Given the description of an element on the screen output the (x, y) to click on. 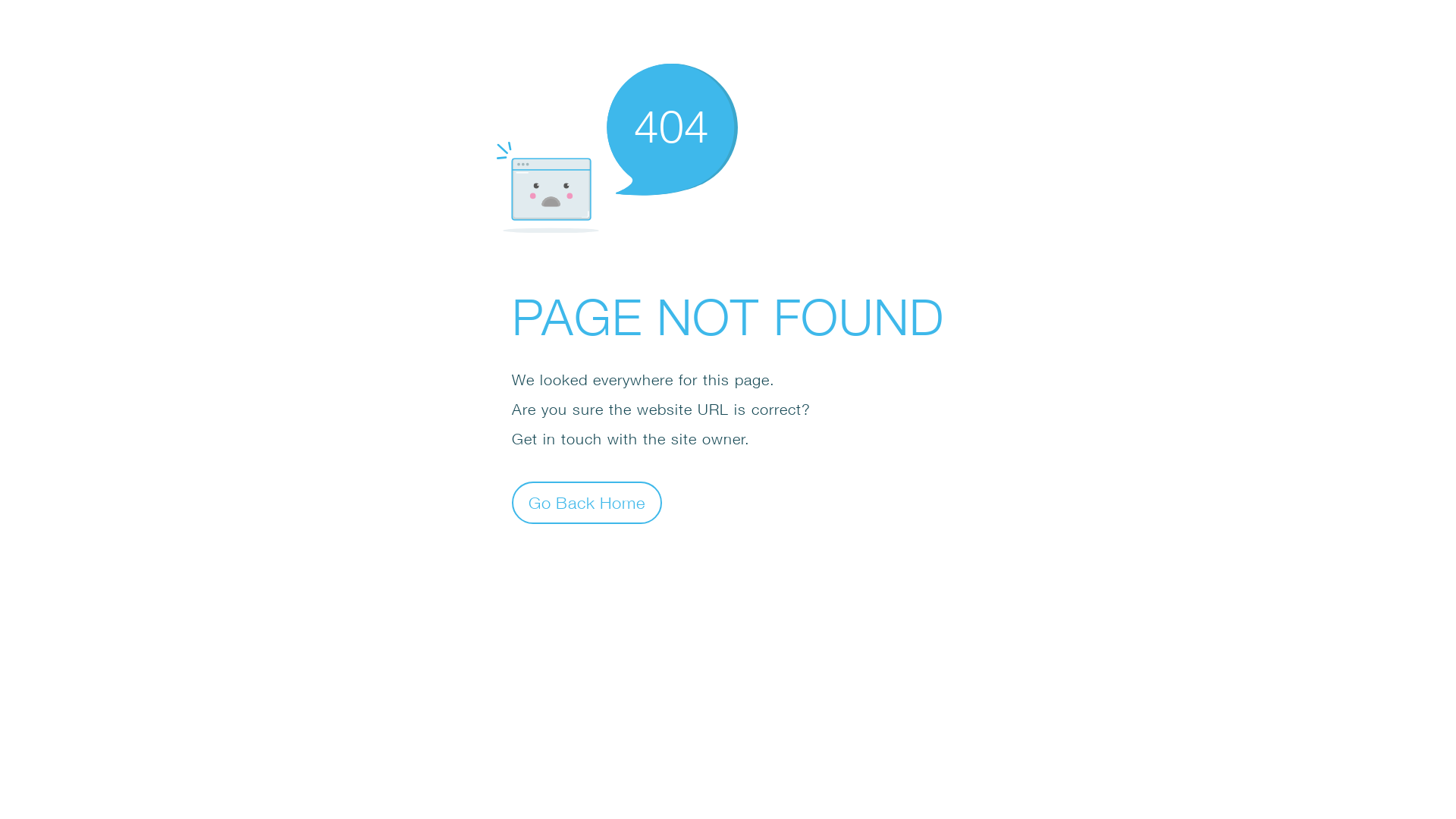
Go Back Home Element type: text (586, 502)
